Given the description of an element on the screen output the (x, y) to click on. 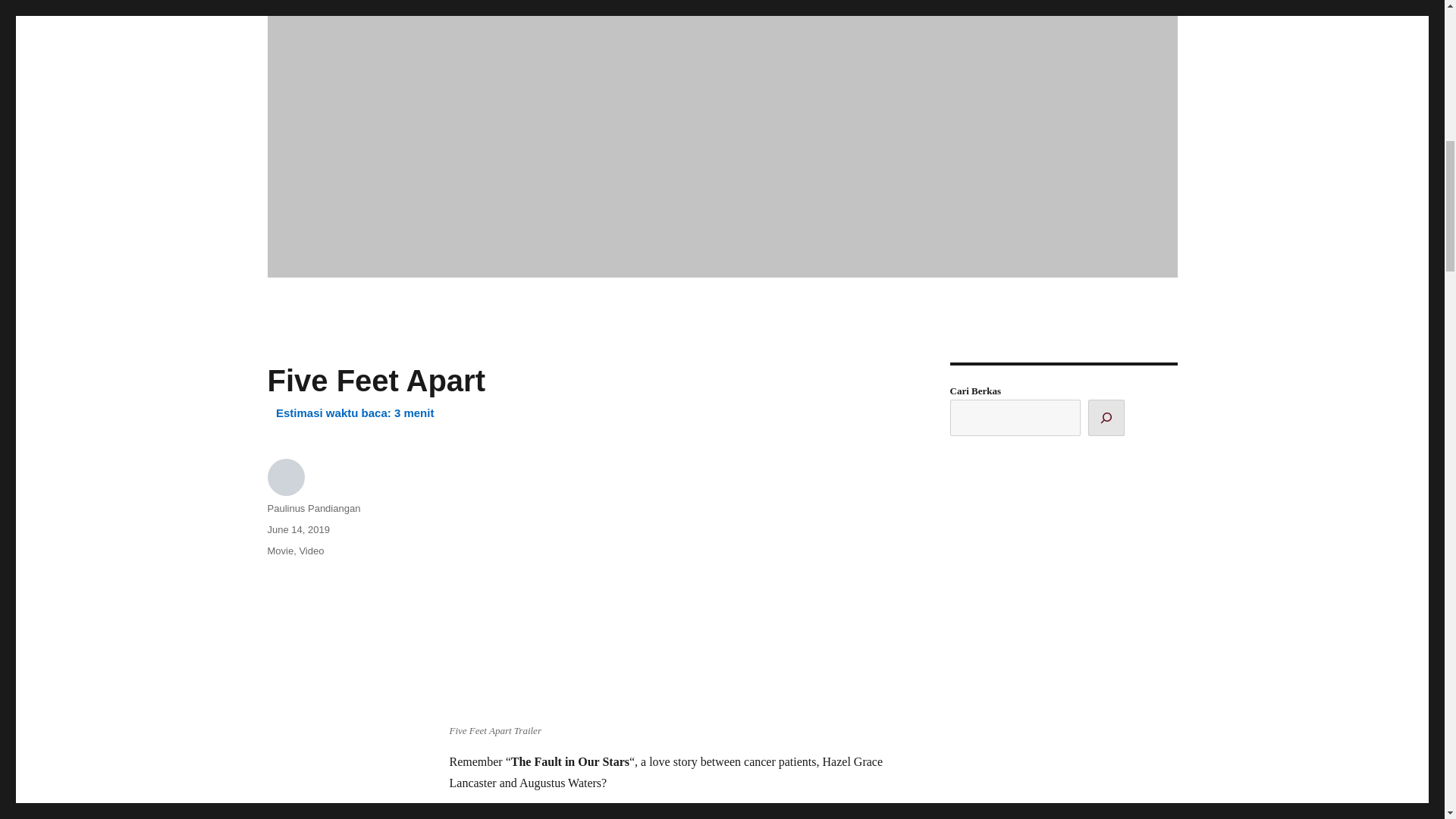
Video (310, 550)
June 14, 2019 (297, 529)
Paulinus Pandiangan (312, 508)
Movie (280, 550)
